Given the description of an element on the screen output the (x, y) to click on. 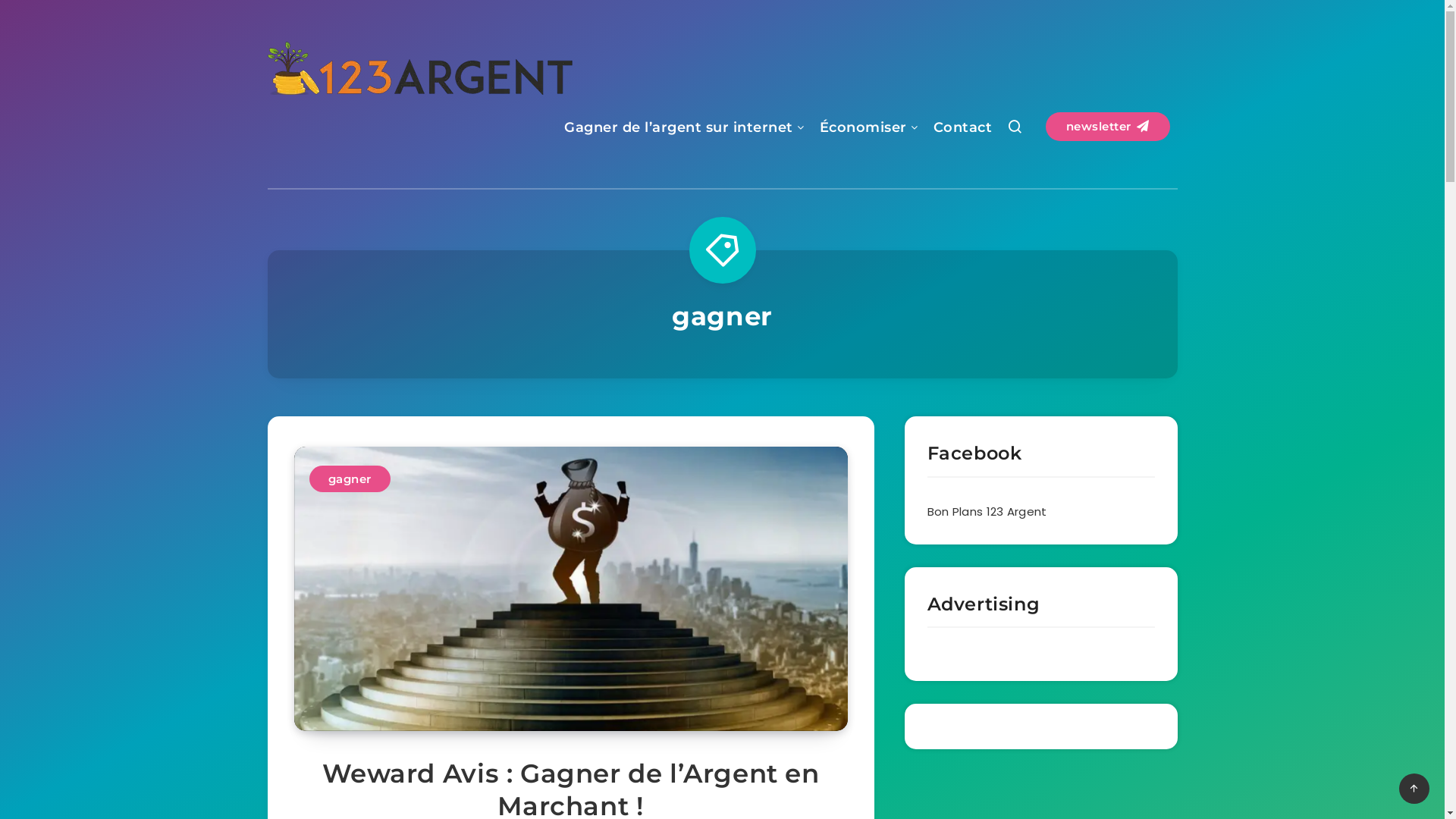
Bon Plans 123 Argent Element type: text (986, 511)
Contact Element type: text (961, 129)
gagner Element type: text (349, 478)
newsletter Element type: text (1106, 126)
